Given the description of an element on the screen output the (x, y) to click on. 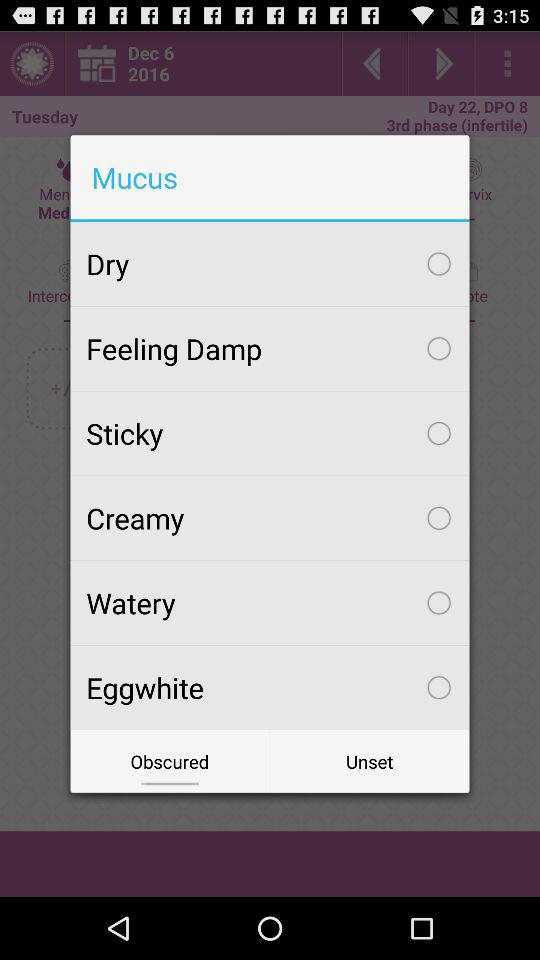
scroll until the feeling damp icon (269, 348)
